Given the description of an element on the screen output the (x, y) to click on. 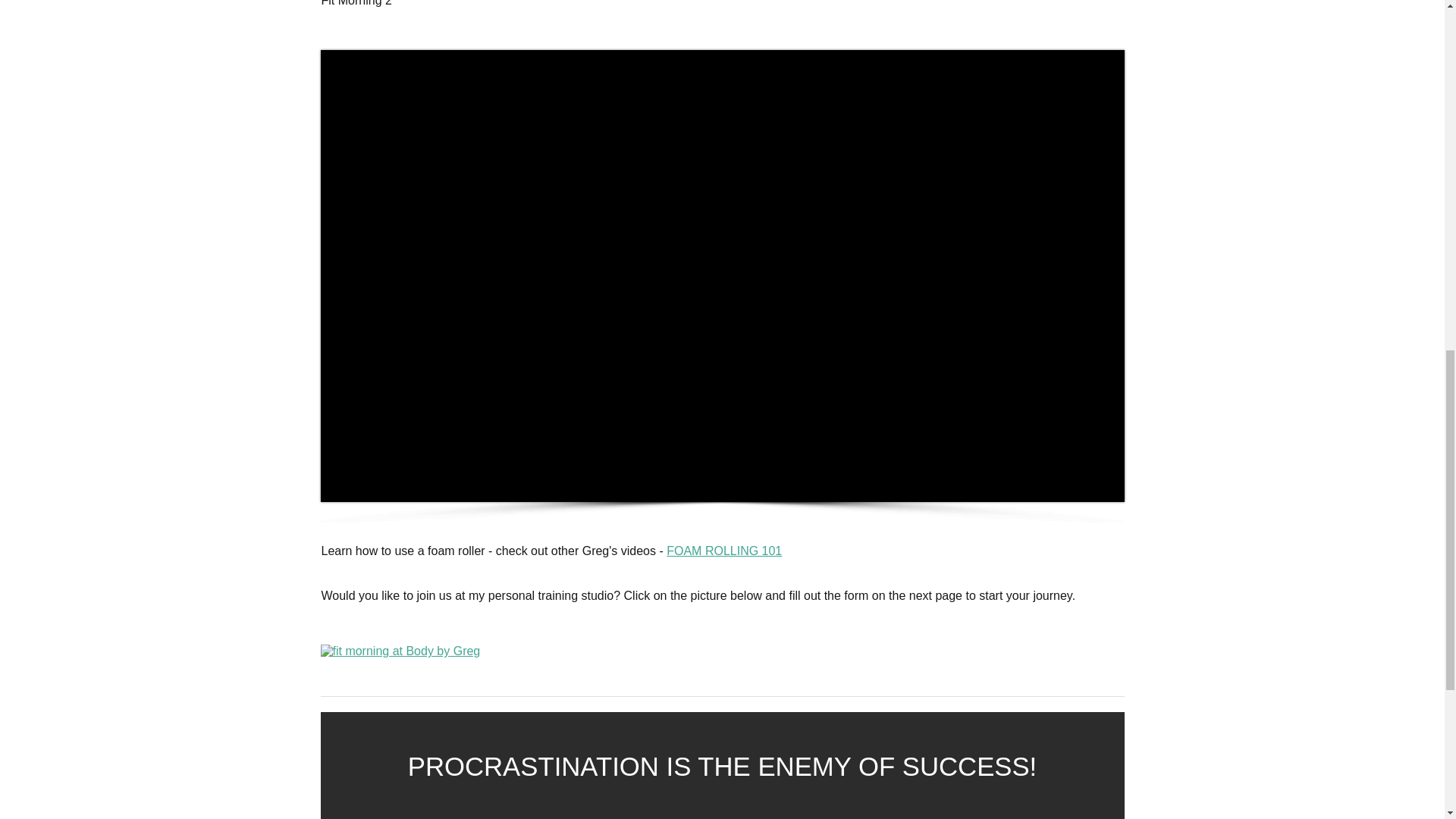
fitcampbbg (400, 651)
FOAM ROLLING 101 (723, 550)
